Given the description of an element on the screen output the (x, y) to click on. 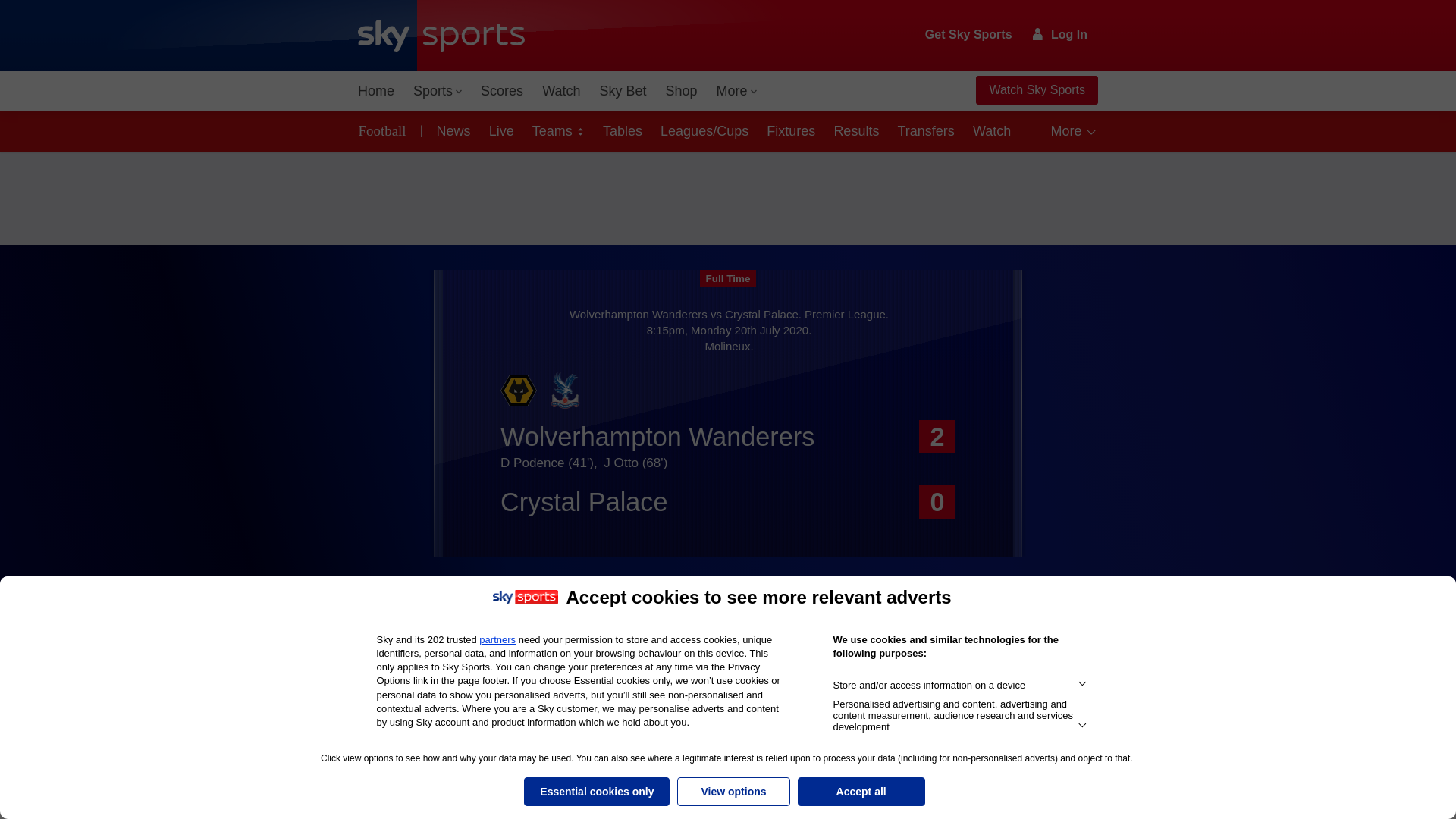
Get Sky Sports (968, 34)
Shop (681, 91)
Sports (437, 91)
News (451, 130)
Football (385, 130)
Log In (1060, 33)
More (736, 91)
Sky Bet (622, 91)
Home (375, 91)
Scores (502, 91)
